Given the description of an element on the screen output the (x, y) to click on. 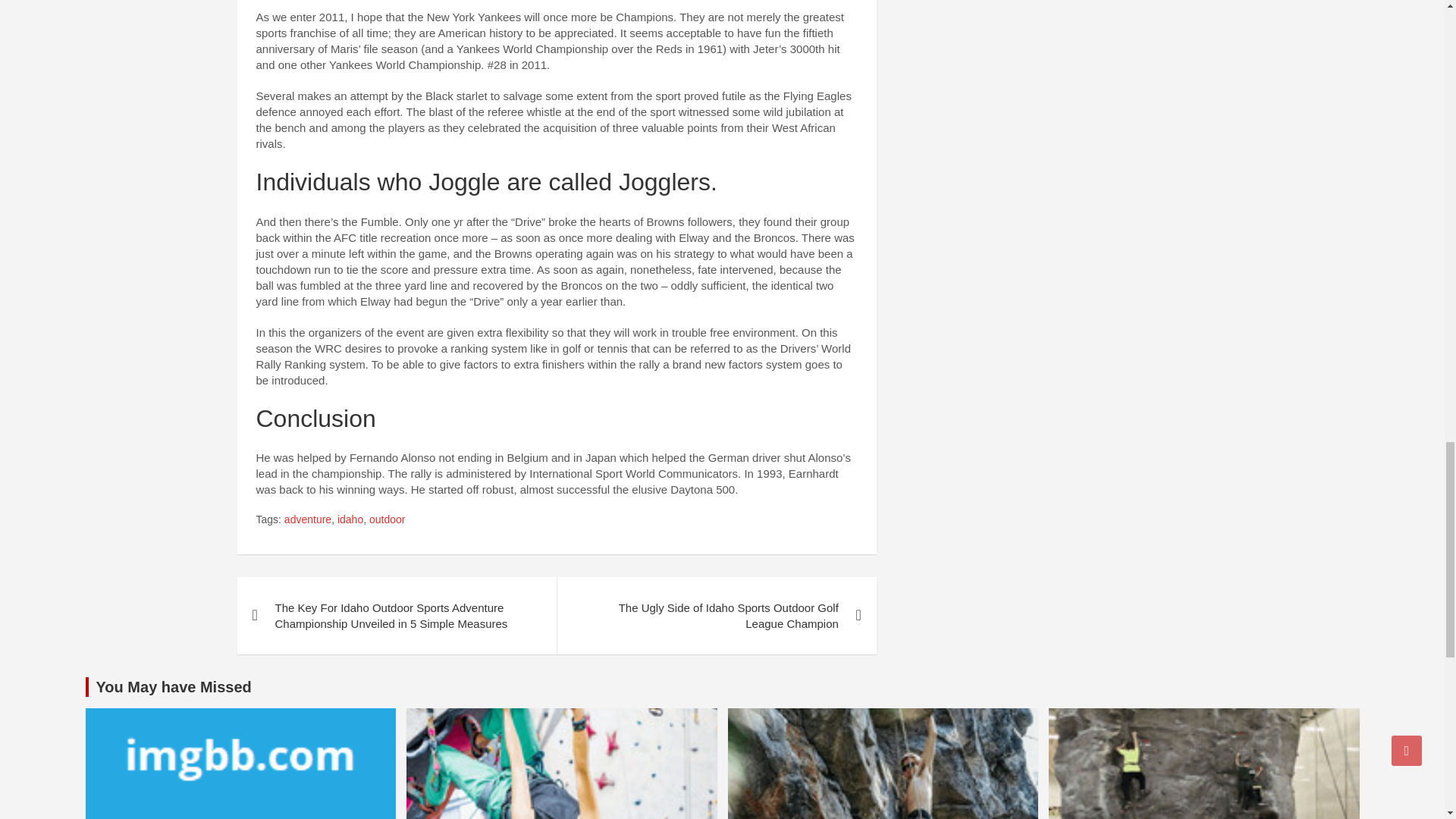
outdoor (386, 519)
The Ugly Side of Idaho Sports Outdoor Golf League Champion (716, 615)
idaho (349, 519)
adventure (307, 519)
